Given the description of an element on the screen output the (x, y) to click on. 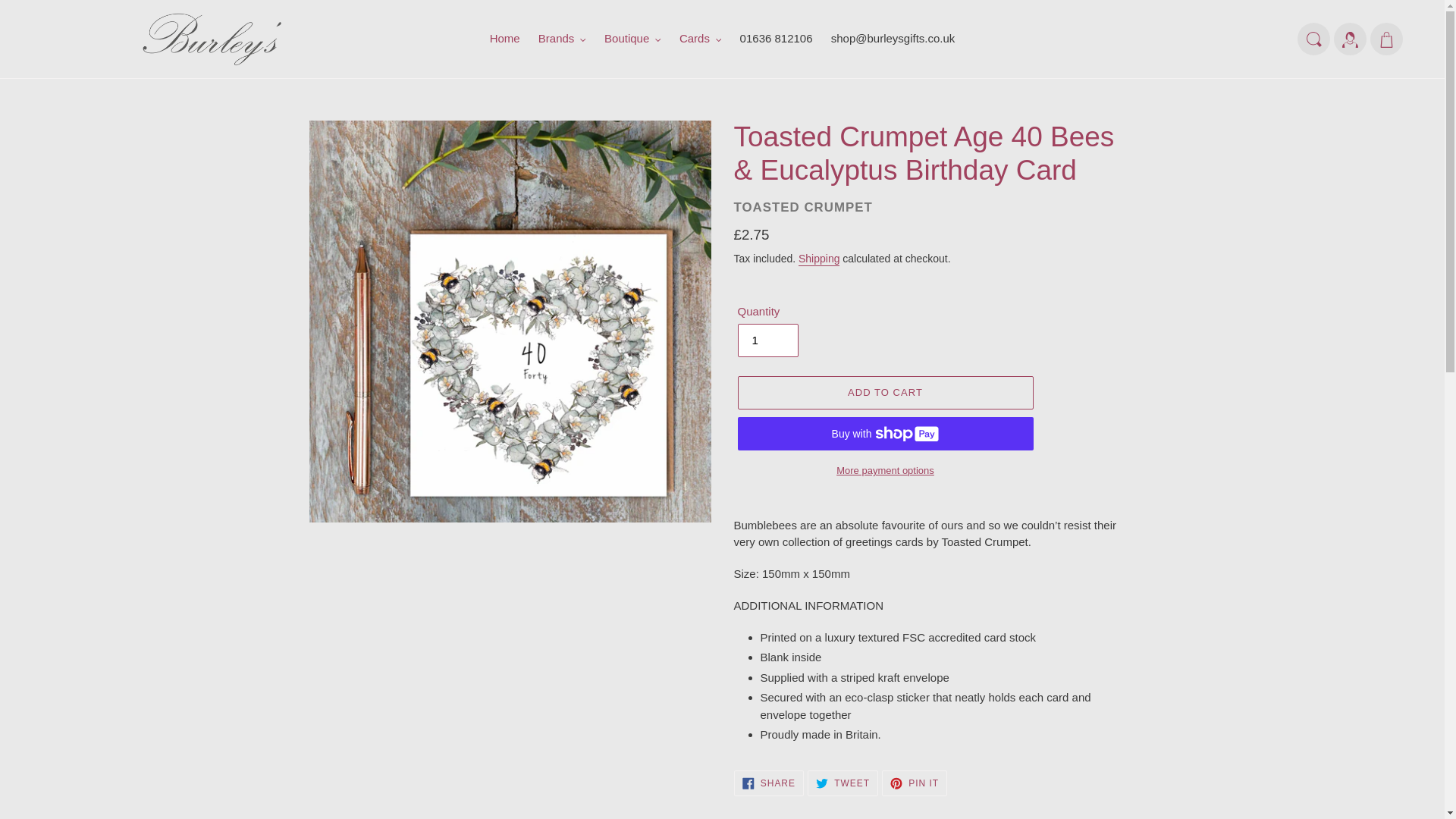
1 (766, 340)
Boutique (632, 38)
Brands (562, 38)
Home (504, 38)
